Given the description of an element on the screen output the (x, y) to click on. 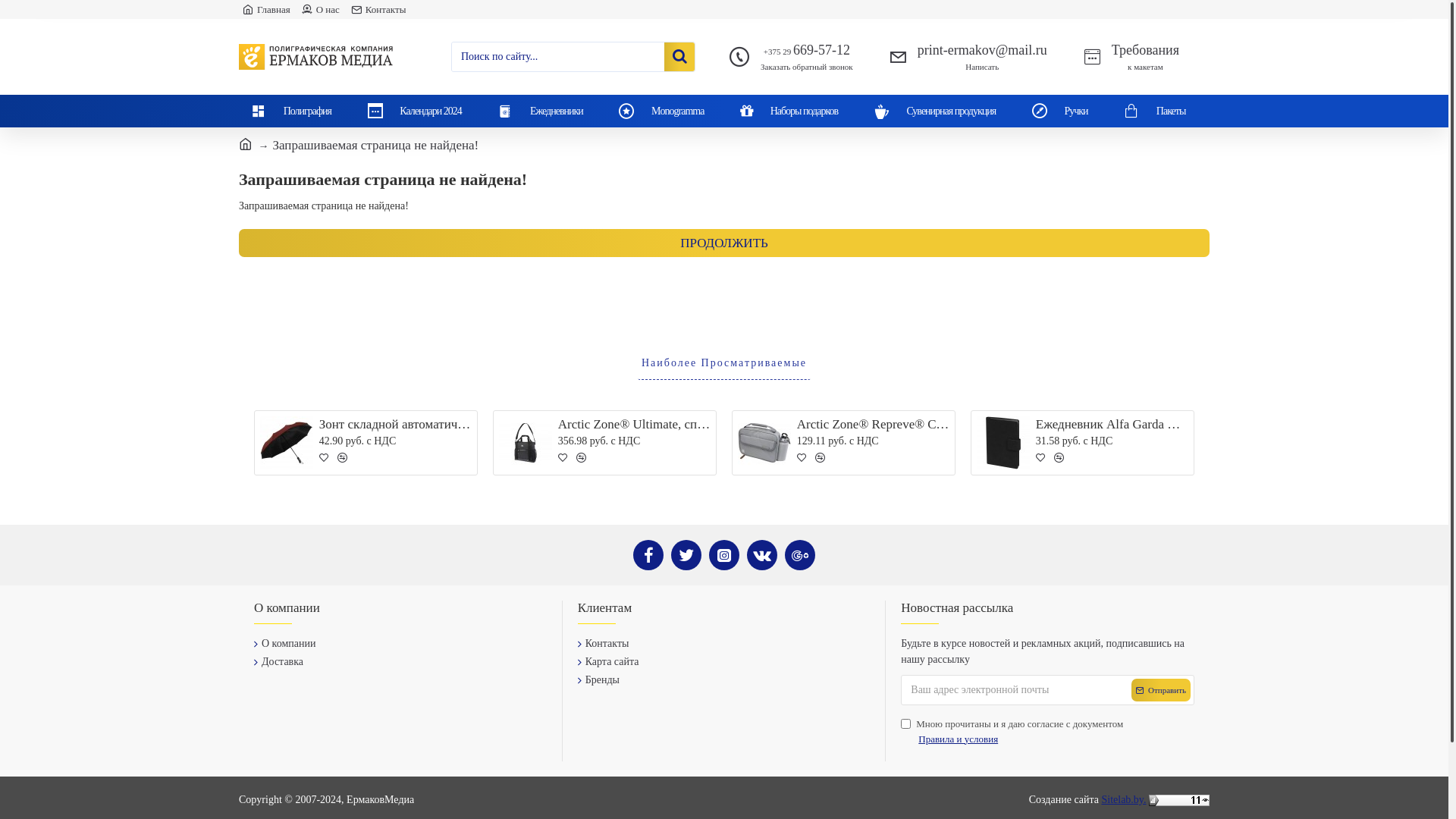
Monogramma Element type: text (667, 110)
Sitelab.by. Element type: text (1123, 799)
